Given the description of an element on the screen output the (x, y) to click on. 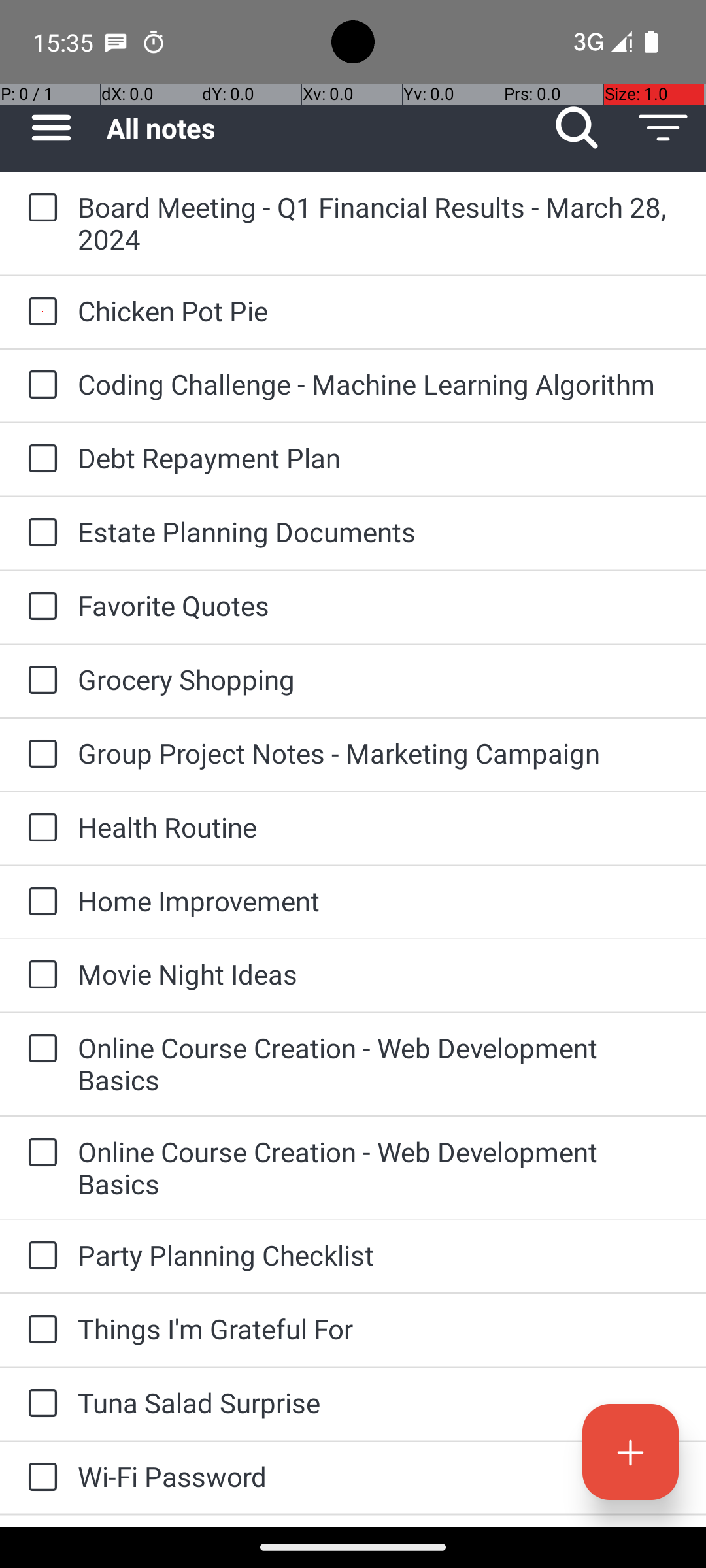
to-do: Chicken Pot Pie Element type: android.widget.CheckBox (38, 312)
Chicken Pot Pie Element type: android.widget.TextView (378, 310)
to-do: Debt Repayment Plan Element type: android.widget.CheckBox (38, 459)
Debt Repayment Plan Element type: android.widget.TextView (378, 457)
to-do: Estate Planning Documents Element type: android.widget.CheckBox (38, 533)
Estate Planning Documents Element type: android.widget.TextView (378, 531)
to-do: Favorite Quotes Element type: android.widget.CheckBox (38, 606)
Favorite Quotes Element type: android.widget.TextView (378, 604)
to-do: Grocery Shopping Element type: android.widget.CheckBox (38, 680)
to-do: Health Routine Element type: android.widget.CheckBox (38, 828)
to-do: Home Improvement Element type: android.widget.CheckBox (38, 902)
Home Improvement Element type: android.widget.TextView (378, 900)
to-do: Movie Night Ideas Element type: android.widget.CheckBox (38, 975)
Movie Night Ideas Element type: android.widget.TextView (378, 973)
to-do: Party Planning Checklist Element type: android.widget.CheckBox (38, 1256)
Party Planning Checklist Element type: android.widget.TextView (378, 1254)
to-do: Things I'm Grateful For Element type: android.widget.CheckBox (38, 1330)
Things I'm Grateful For Element type: android.widget.TextView (378, 1328)
to-do: Tuna Salad Surprise Element type: android.widget.CheckBox (38, 1404)
Tuna Salad Surprise Element type: android.widget.TextView (378, 1402)
to-do: Wi-Fi Password Element type: android.widget.CheckBox (38, 1477)
Wi-Fi Password Element type: android.widget.TextView (378, 1475)
to-do: Bucket List Element type: android.widget.CheckBox (38, 1520)
